Given the description of an element on the screen output the (x, y) to click on. 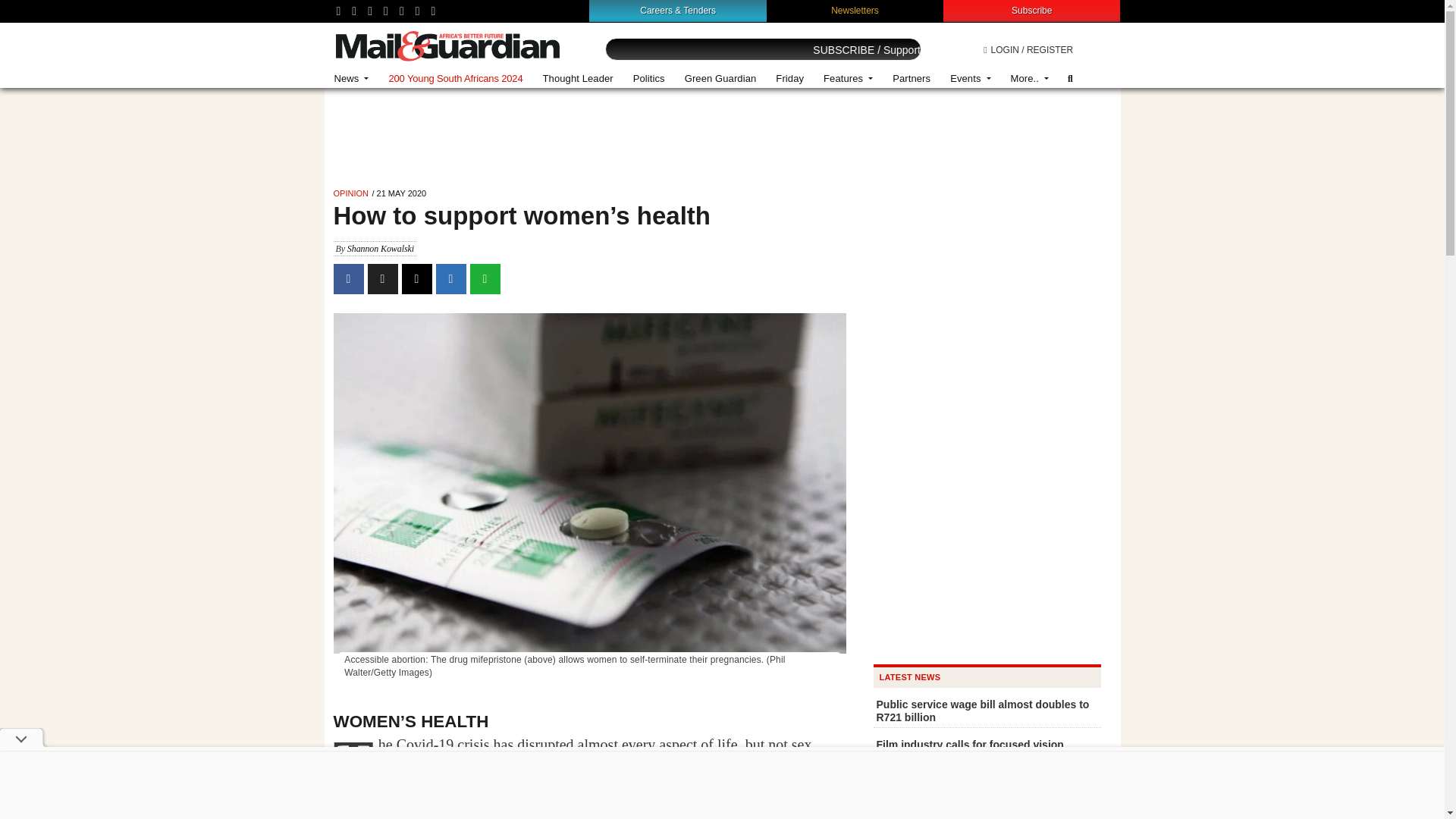
200 Young South Africans 2024 (455, 78)
Politics (649, 78)
News (351, 78)
Subscribe (1031, 9)
Newsletters (855, 9)
Thought Leader (577, 78)
Friday (789, 78)
News (351, 78)
Green Guardian (721, 78)
